Given the description of an element on the screen output the (x, y) to click on. 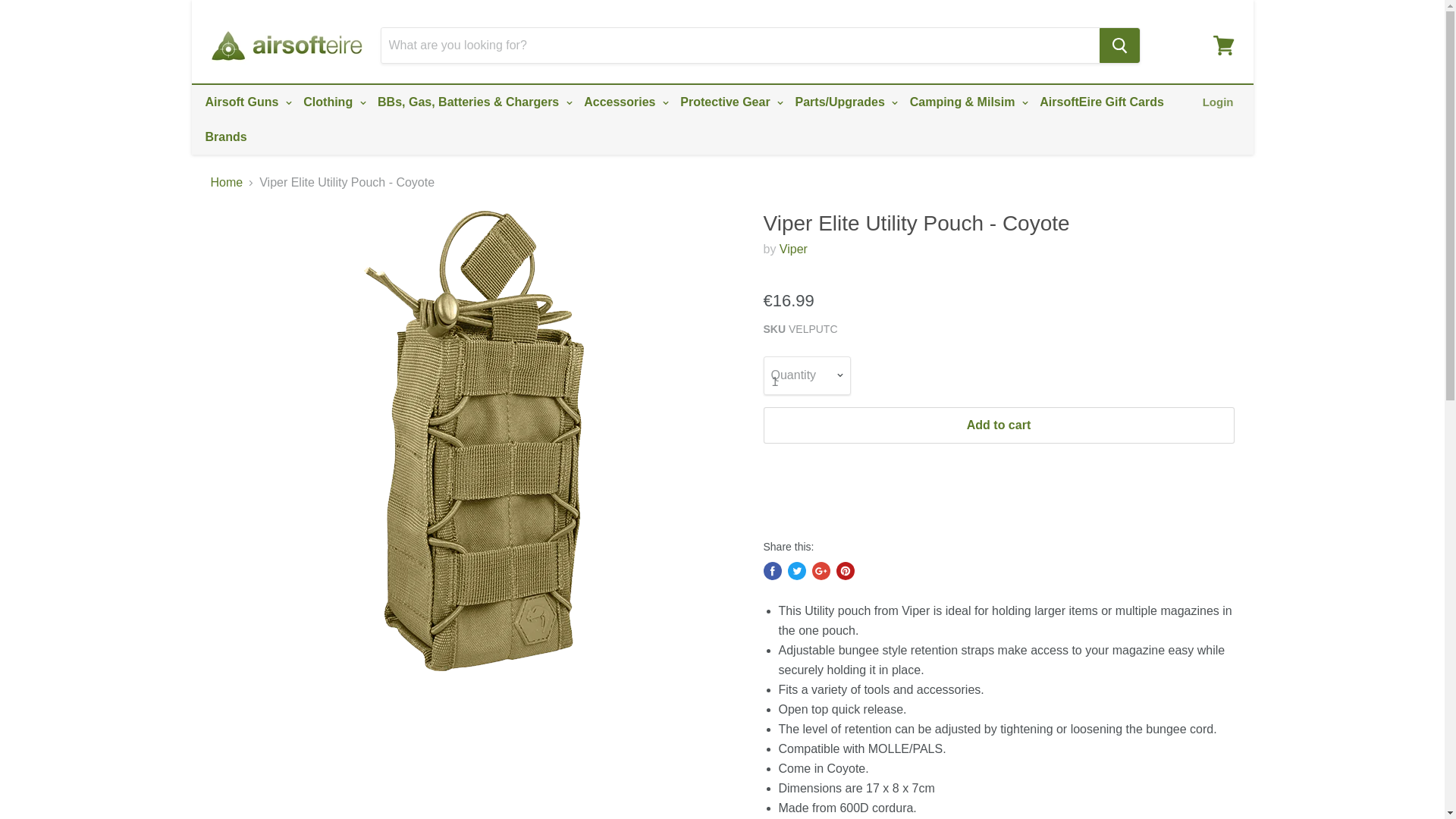
Airsoft Guns (246, 101)
Viper (793, 248)
View cart (1223, 45)
Clothing (332, 101)
